Given the description of an element on the screen output the (x, y) to click on. 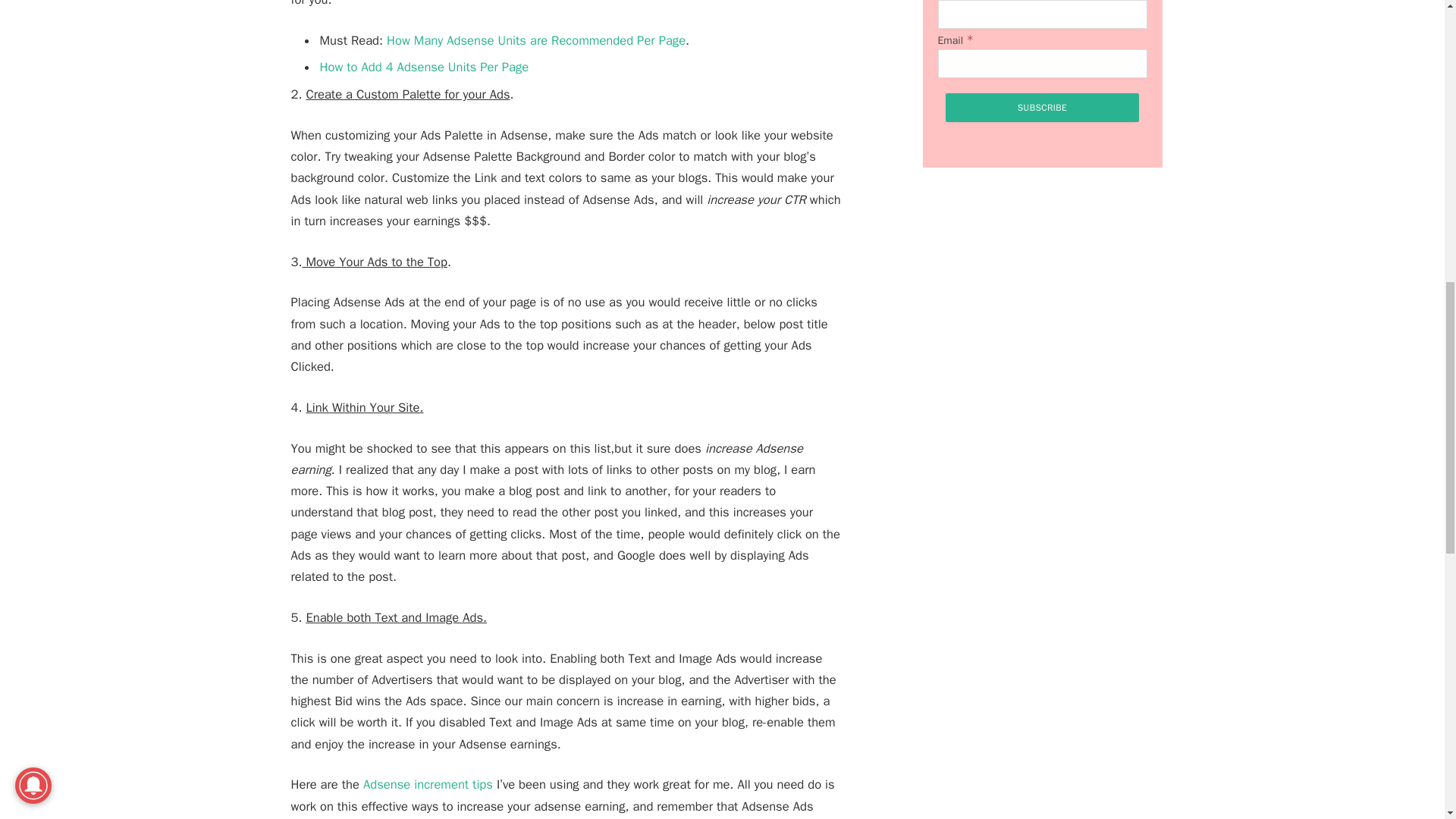
Subscribe (1041, 107)
